Given the description of an element on the screen output the (x, y) to click on. 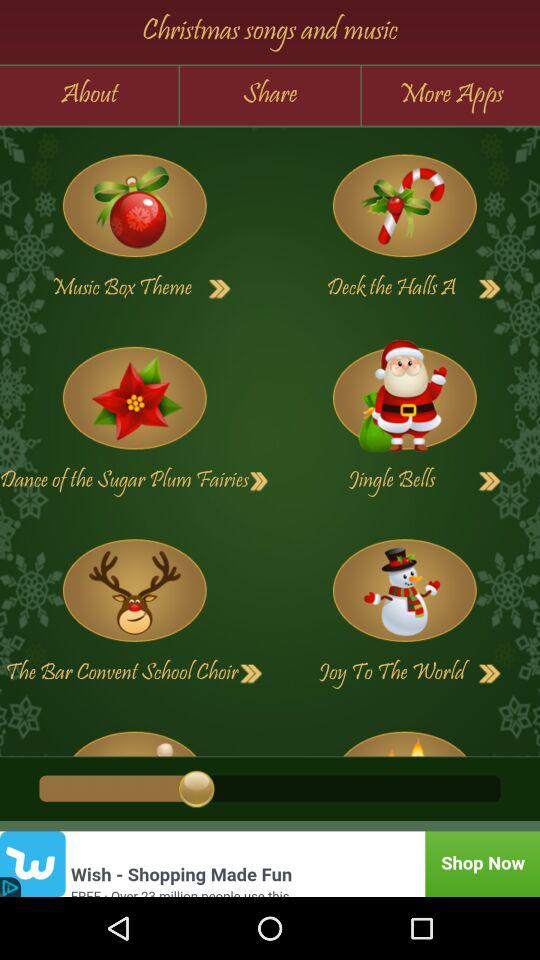
select music box theme (220, 289)
